Given the description of an element on the screen output the (x, y) to click on. 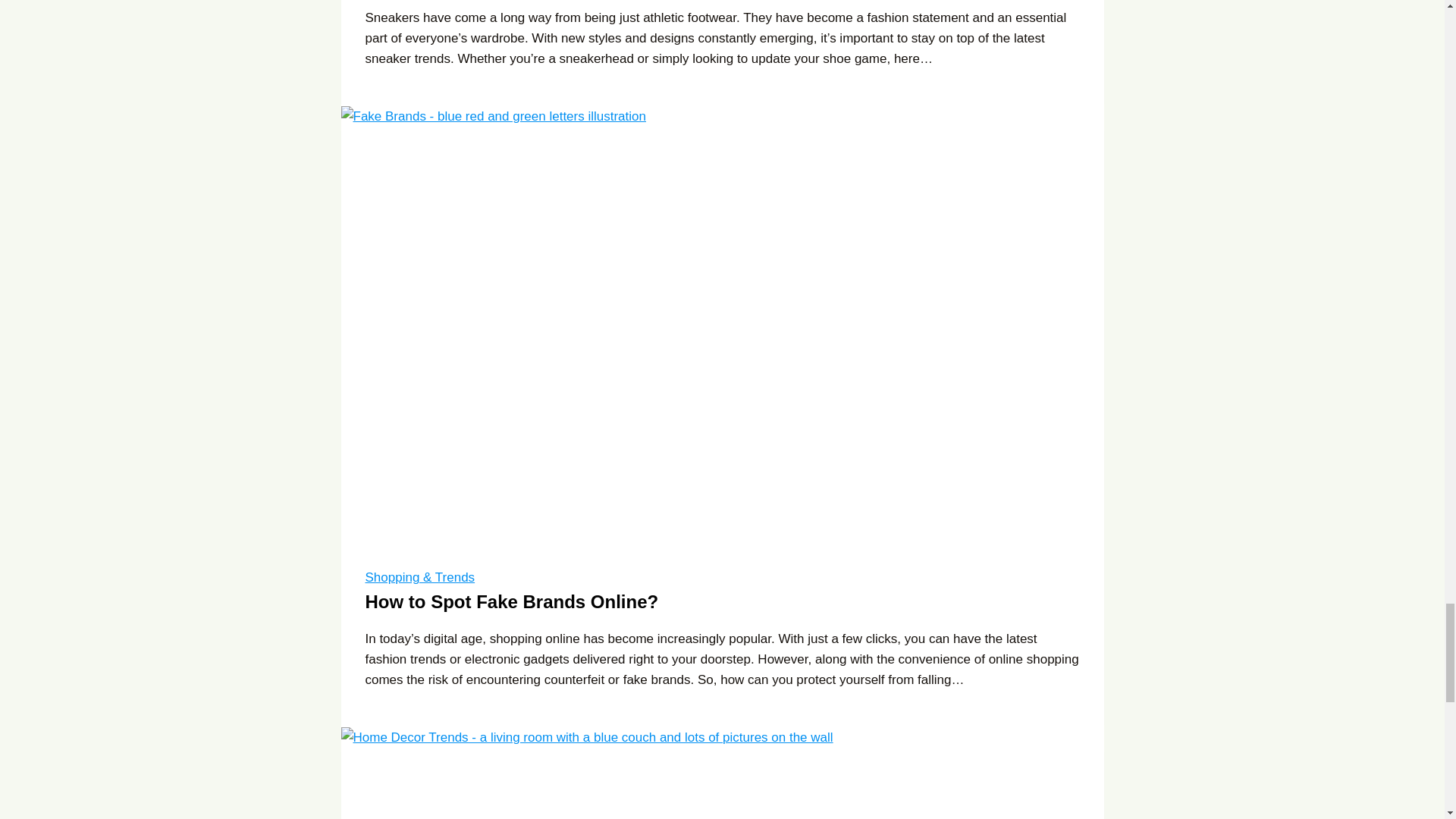
How to Spot Fake Brands Online? (512, 601)
